Given the description of an element on the screen output the (x, y) to click on. 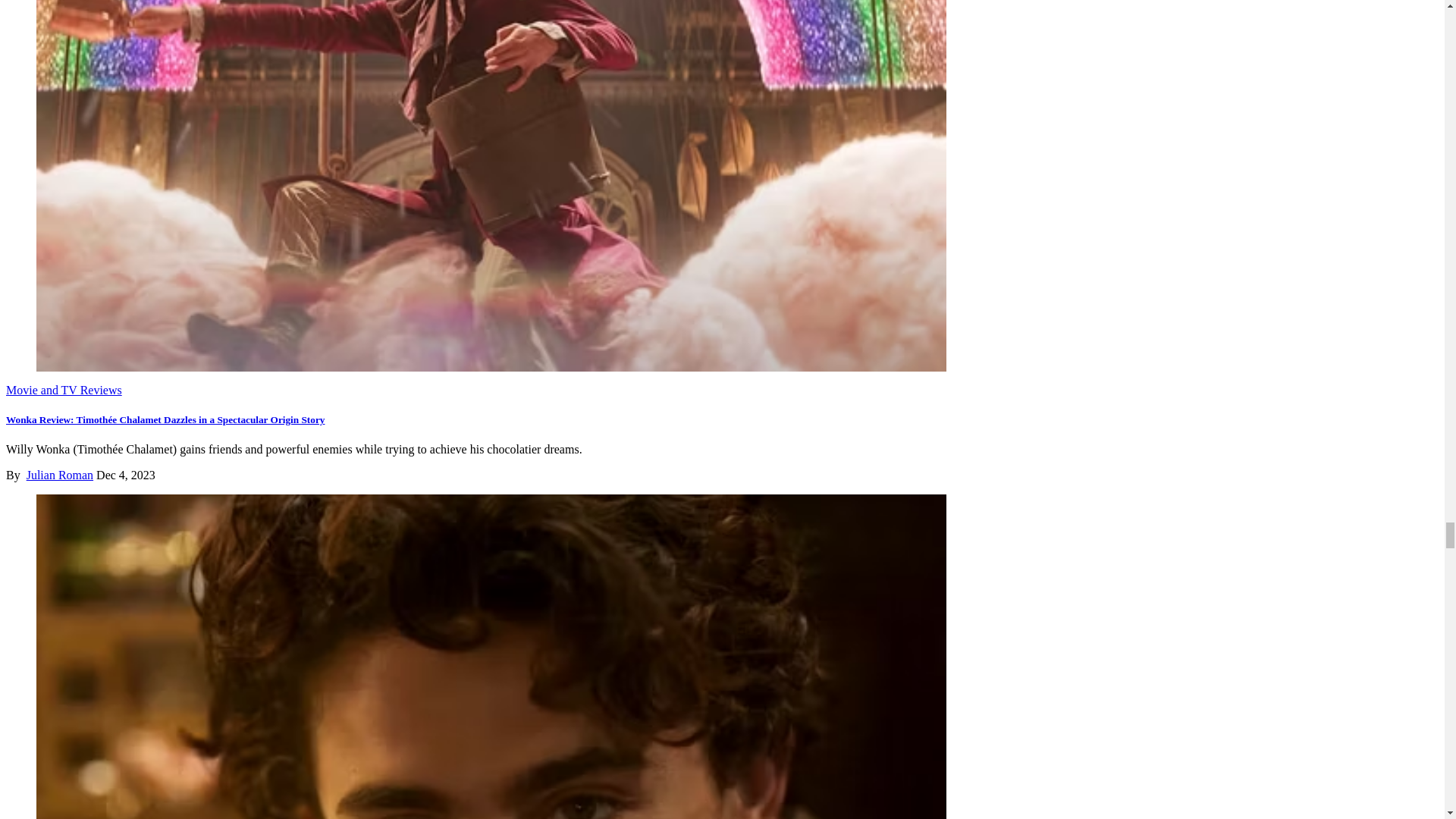
Posts by Julian Roman (59, 474)
